Given the description of an element on the screen output the (x, y) to click on. 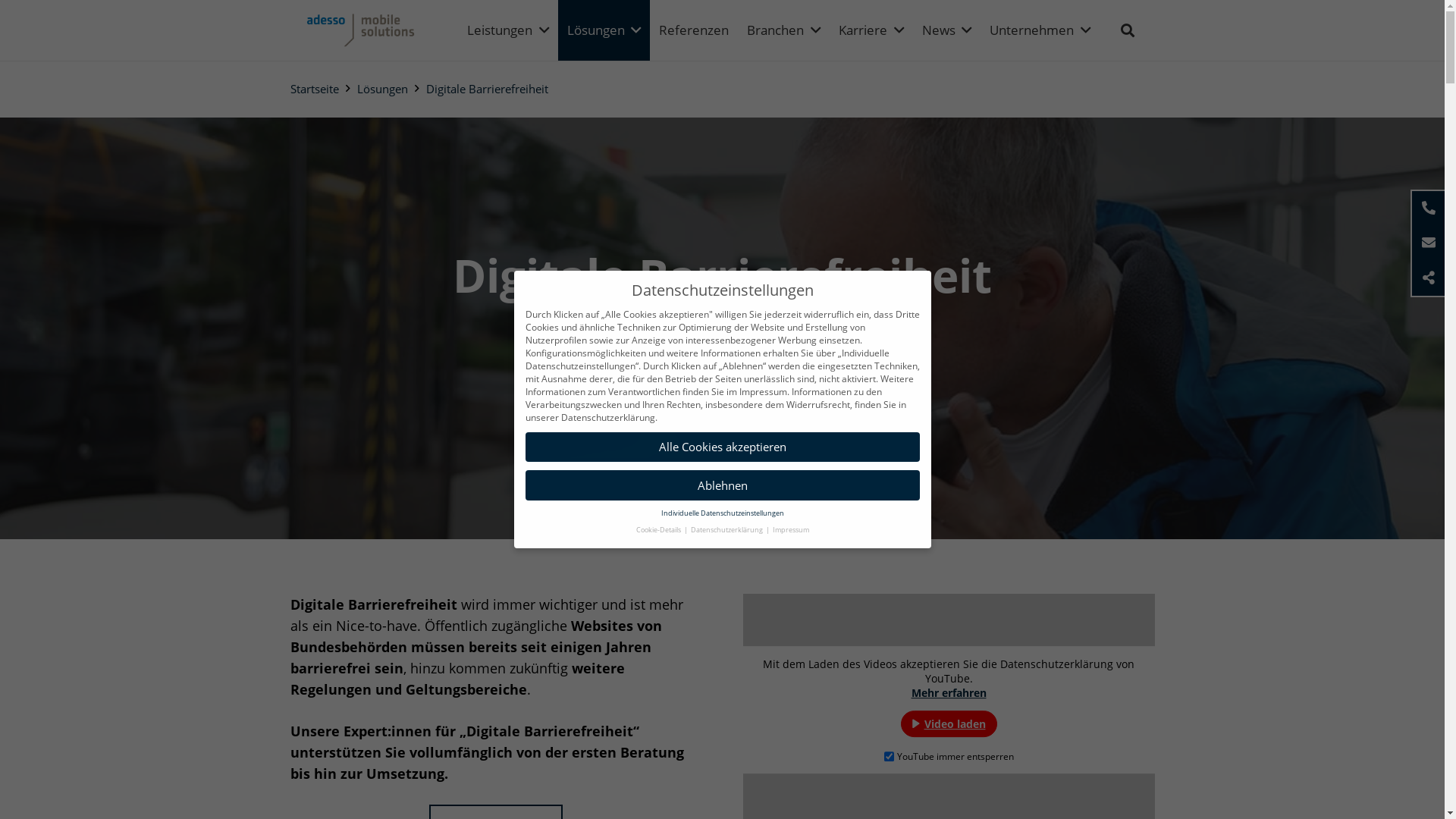
Individuelle Datenschutzeinstellungen Element type: text (722, 512)
Ablehnen Element type: text (721, 484)
Leistungen Element type: text (508, 30)
Cookie-Details Element type: text (658, 529)
Zur Studie: Mobil mit Barrieren Element type: text (721, 386)
Unternehmen Element type: text (1039, 30)
Referenzen Element type: text (693, 30)
Impressum Element type: text (789, 529)
News Element type: text (947, 30)
Video laden Element type: text (948, 723)
Karriere Element type: text (871, 30)
Alle Cookies akzeptieren Element type: text (721, 446)
Mehr erfahren Element type: text (948, 692)
Branchen Element type: text (783, 30)
Digitale Barrierefreiheit Element type: text (487, 88)
Startseite Element type: text (313, 88)
